Given the description of an element on the screen output the (x, y) to click on. 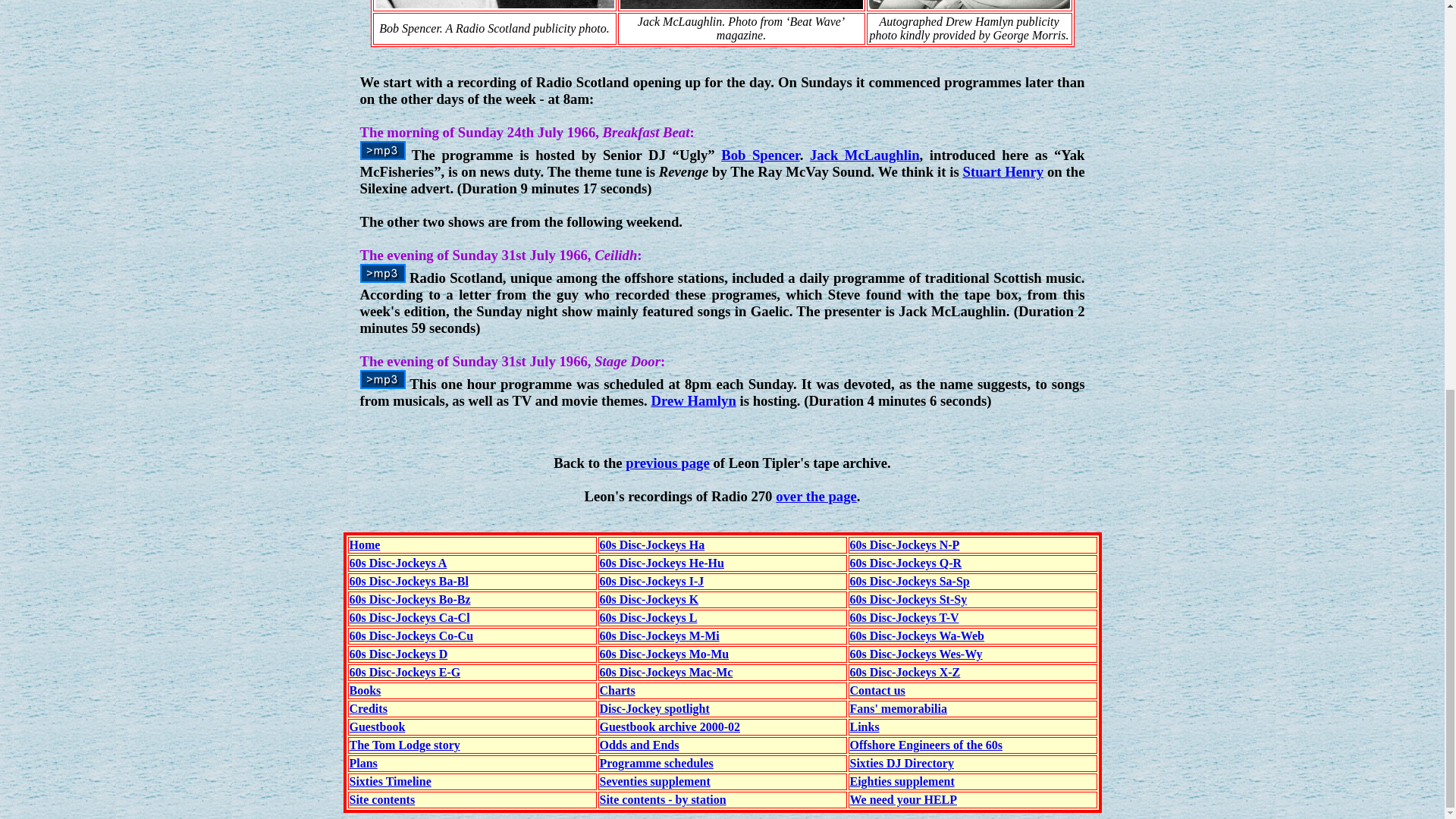
60s Disc-Jockeys Q-R (904, 562)
60s Disc-Jockeys Wes-Wy (914, 653)
60s Disc-Jockeys Sa-Sp (908, 581)
60s Disc-Jockeys Co-Cu (411, 635)
60s Disc-Jockeys Mo-Mu (663, 653)
Stuart Henry (1002, 171)
Home (364, 544)
60s Disc-Jockeys He-Hu (660, 562)
60s Disc-Jockeys I-J (650, 581)
60s Disc-Jockeys A (397, 562)
